Given the description of an element on the screen output the (x, y) to click on. 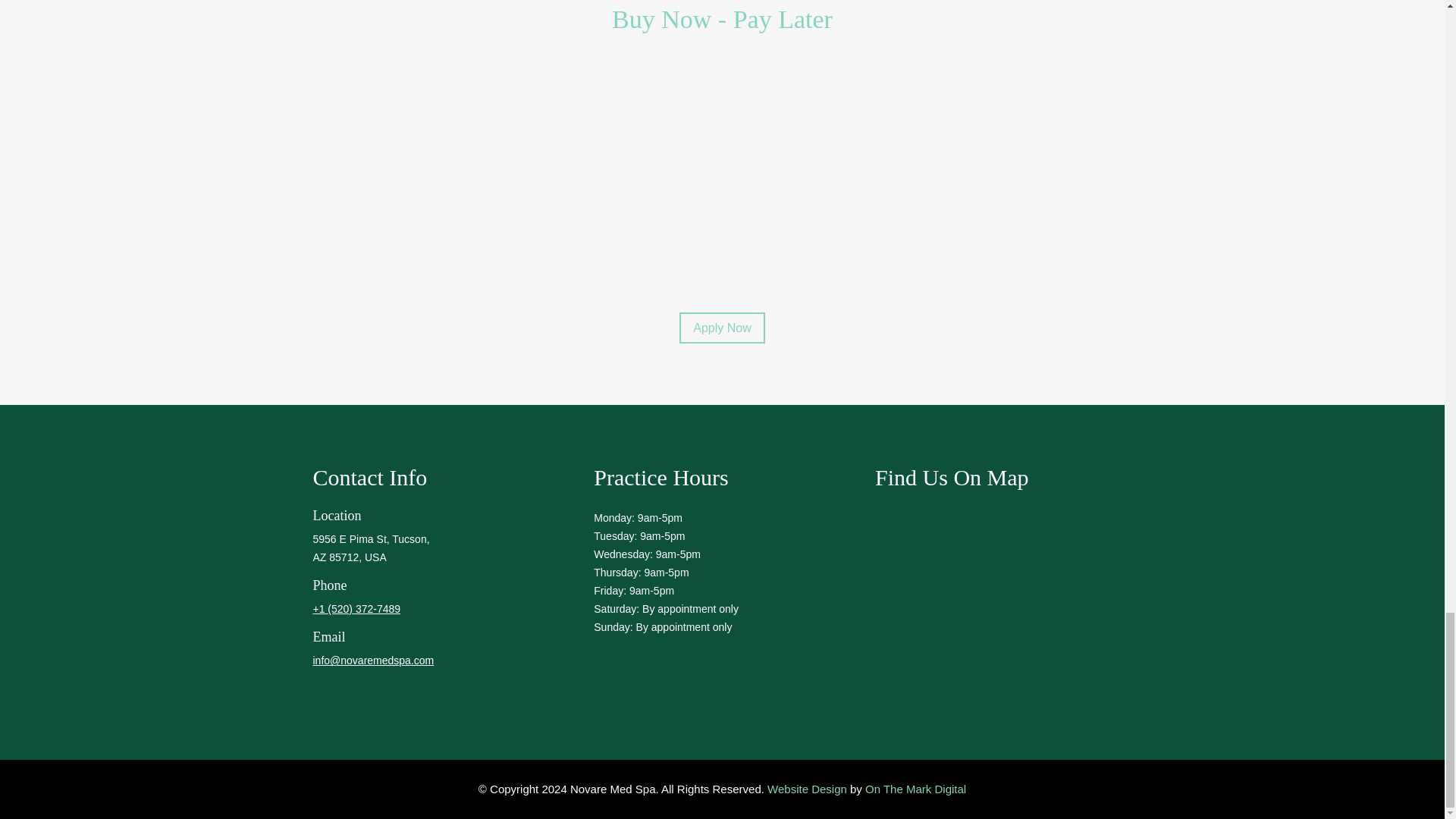
Apply Now (721, 327)
Website Design (807, 788)
On The Mark Digital (915, 788)
